Given the description of an element on the screen output the (x, y) to click on. 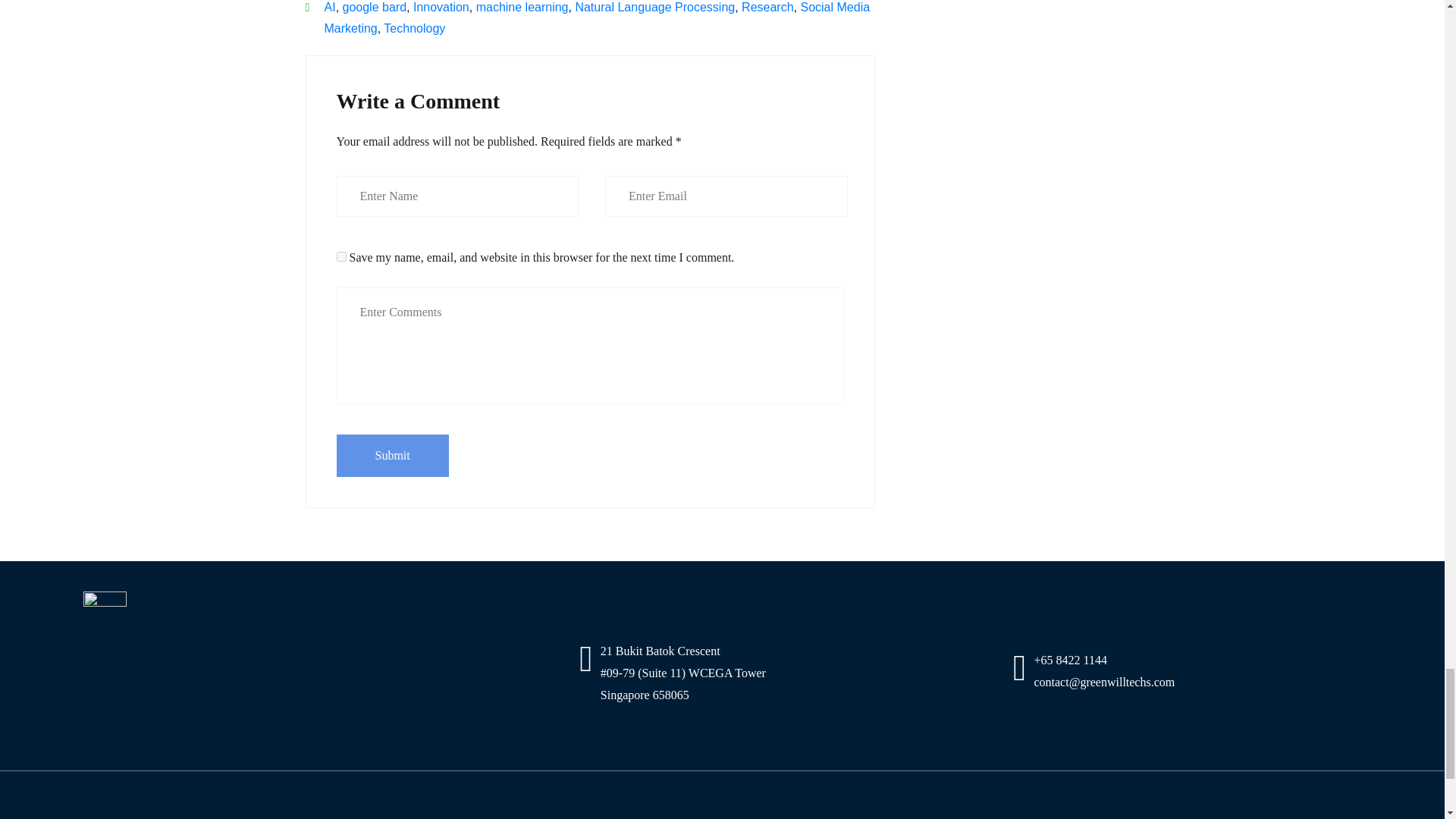
yes (341, 256)
Submit (392, 455)
